Given the description of an element on the screen output the (x, y) to click on. 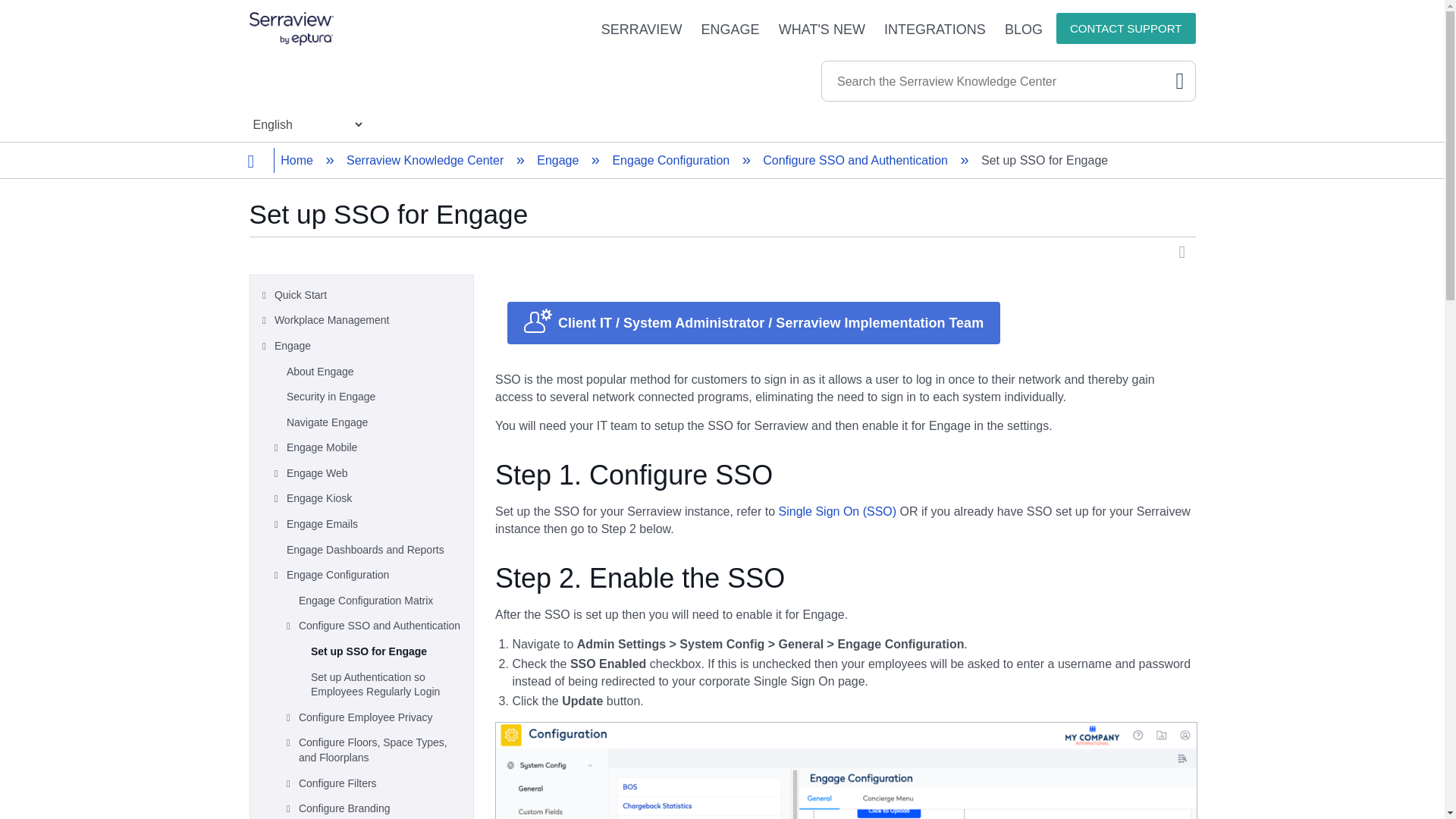
ENGAGE (719, 29)
Choose Language (306, 124)
SERRAVIEW (632, 29)
Configure SSO and Authentication (856, 160)
Workplace Management (370, 320)
BLOG (1013, 29)
Home (298, 160)
Engage Configuration (671, 160)
Workplace Management (370, 320)
Quick Start (370, 295)
